Given the description of an element on the screen output the (x, y) to click on. 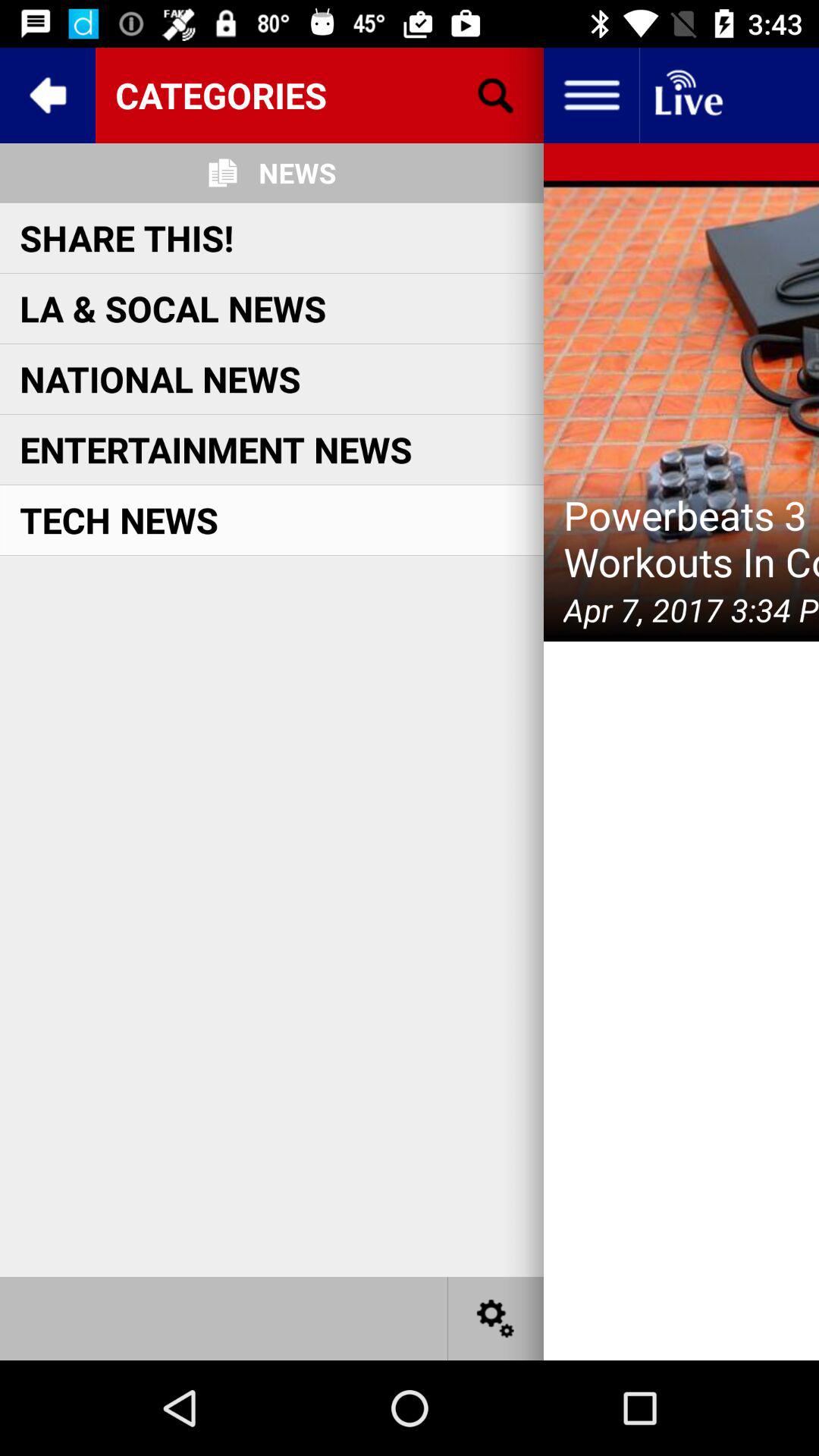
launch categories (319, 95)
